Given the description of an element on the screen output the (x, y) to click on. 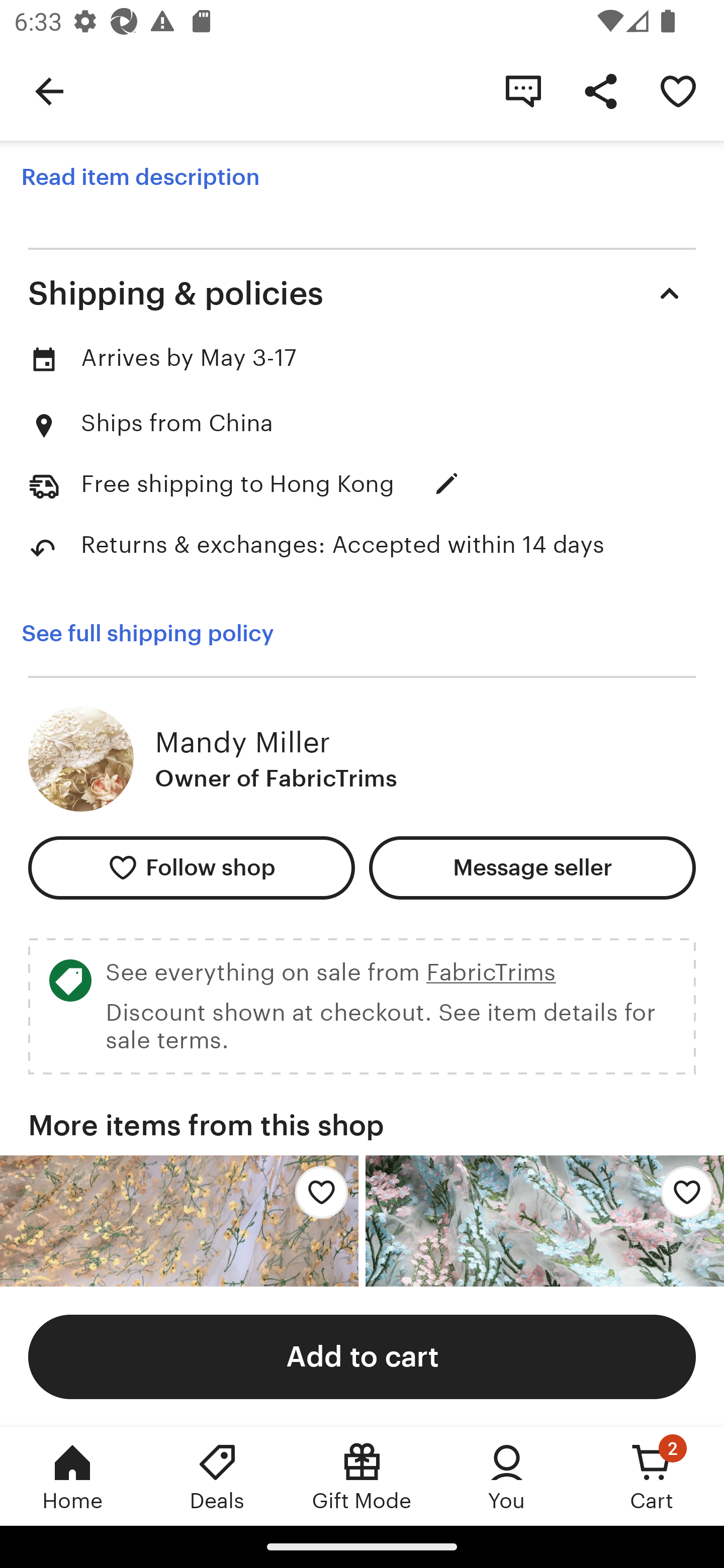
Navigate up (49, 90)
Contact shop (523, 90)
Share (600, 90)
Read item description (140, 176)
Shipping & policies (362, 292)
Update (446, 484)
See full shipping policy (147, 633)
Follow shop Follow FabricTrims (191, 867)
Message seller (532, 867)
Add to cart (361, 1355)
Deals (216, 1475)
Gift Mode (361, 1475)
You (506, 1475)
Cart, 2 new notifications Cart (651, 1475)
